Given the description of an element on the screen output the (x, y) to click on. 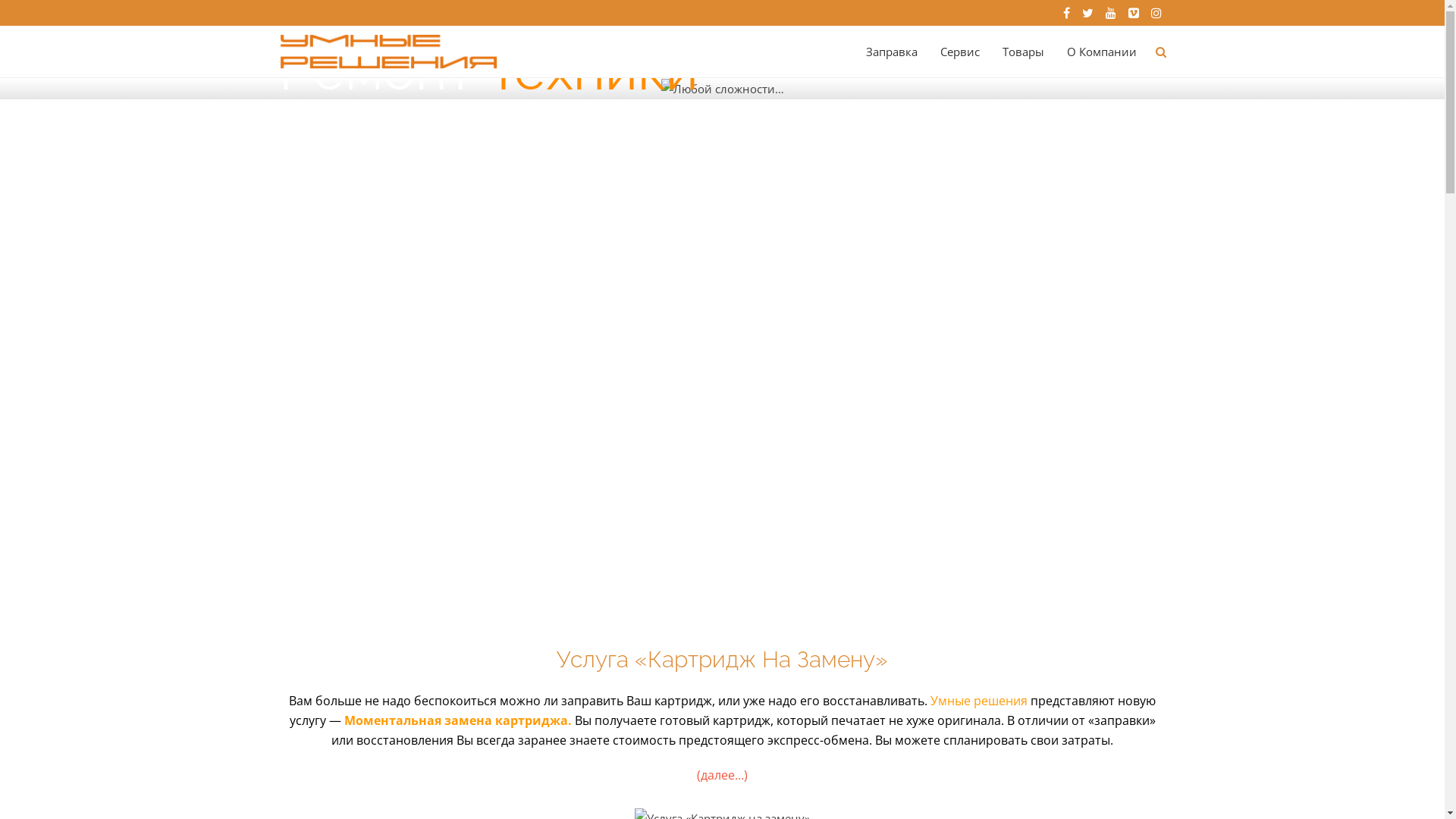
3 Element type: text (729, 539)
2 Element type: text (713, 539)
1 Element type: text (698, 539)
4 Element type: text (744, 539)
